Given the description of an element on the screen output the (x, y) to click on. 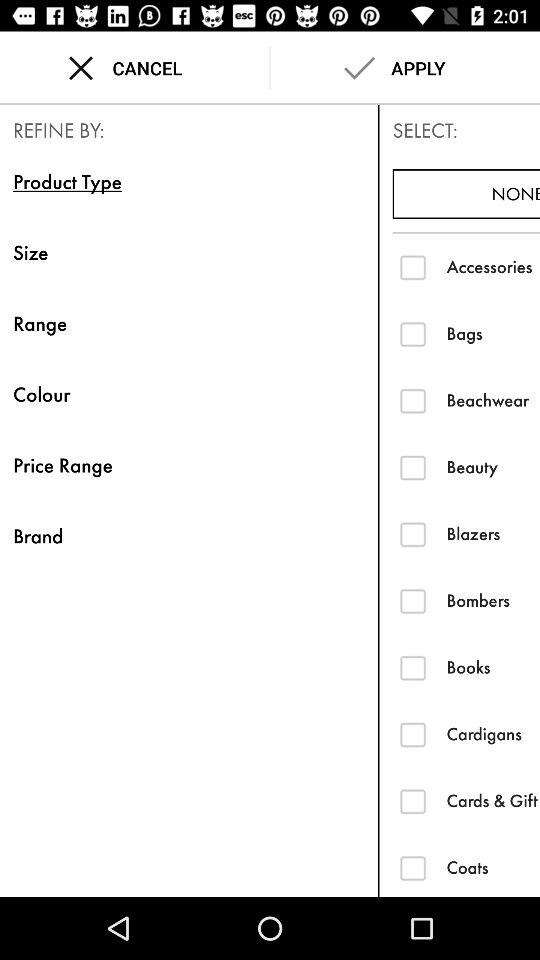
scroll until coats (493, 867)
